Given the description of an element on the screen output the (x, y) to click on. 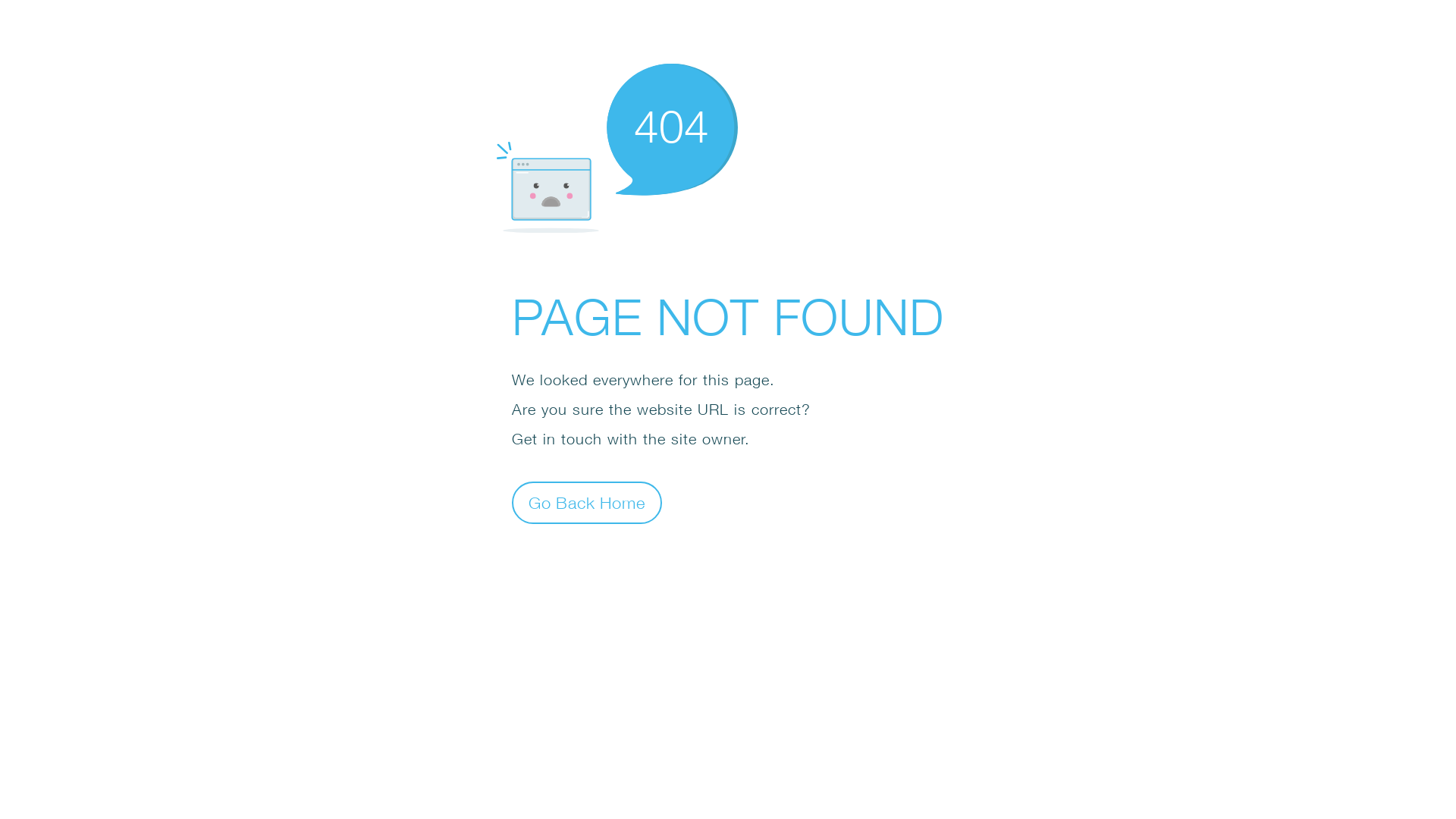
Go Back Home Element type: text (586, 502)
